Given the description of an element on the screen output the (x, y) to click on. 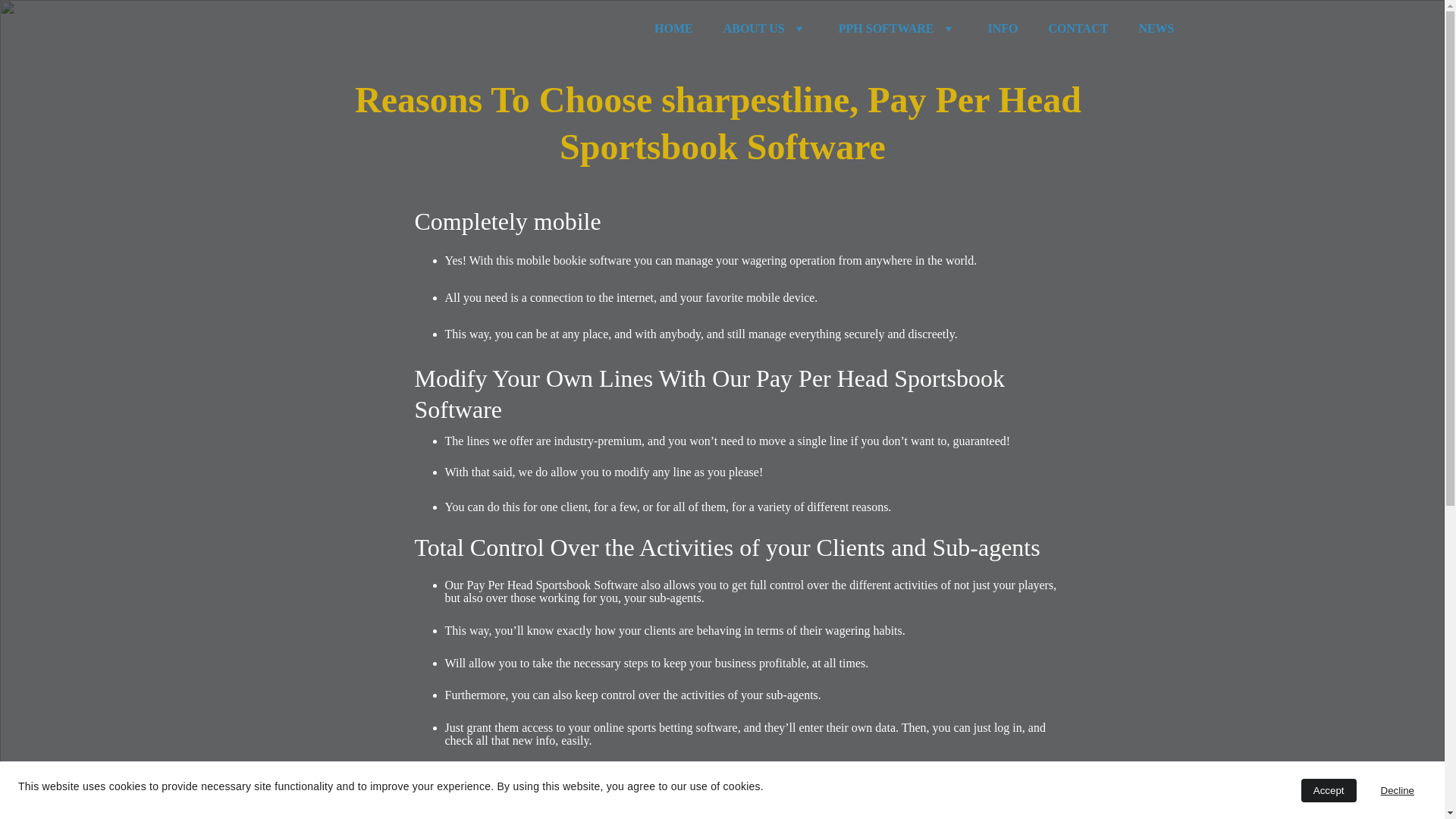
Decline (1397, 790)
INFO (1002, 29)
HOME (673, 29)
CONTACT (1078, 29)
NEWS (1155, 29)
Accept (1328, 790)
